Given the description of an element on the screen output the (x, y) to click on. 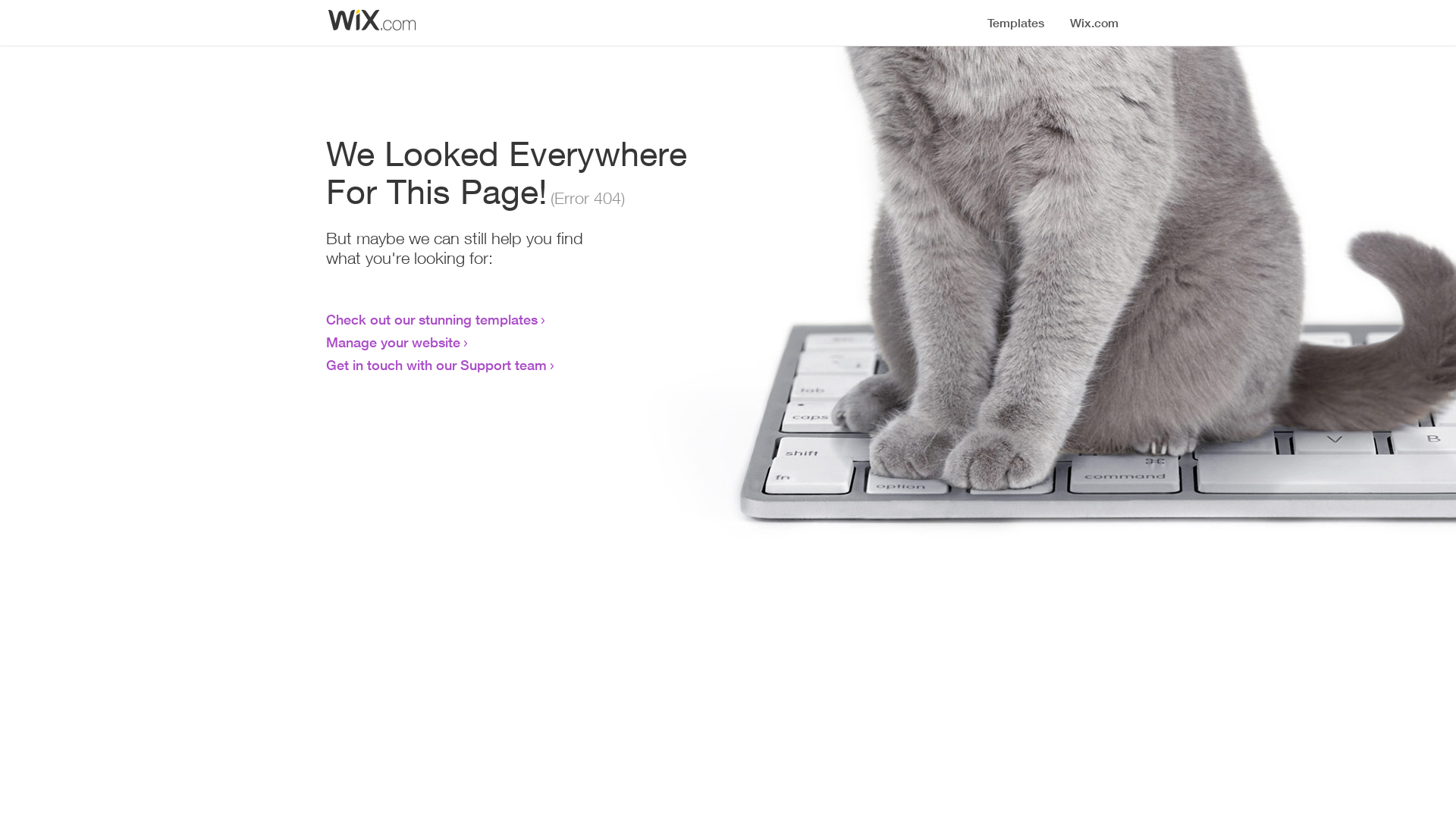
Check out our stunning templates Element type: text (431, 318)
Get in touch with our Support team Element type: text (436, 364)
Manage your website Element type: text (393, 341)
